Given the description of an element on the screen output the (x, y) to click on. 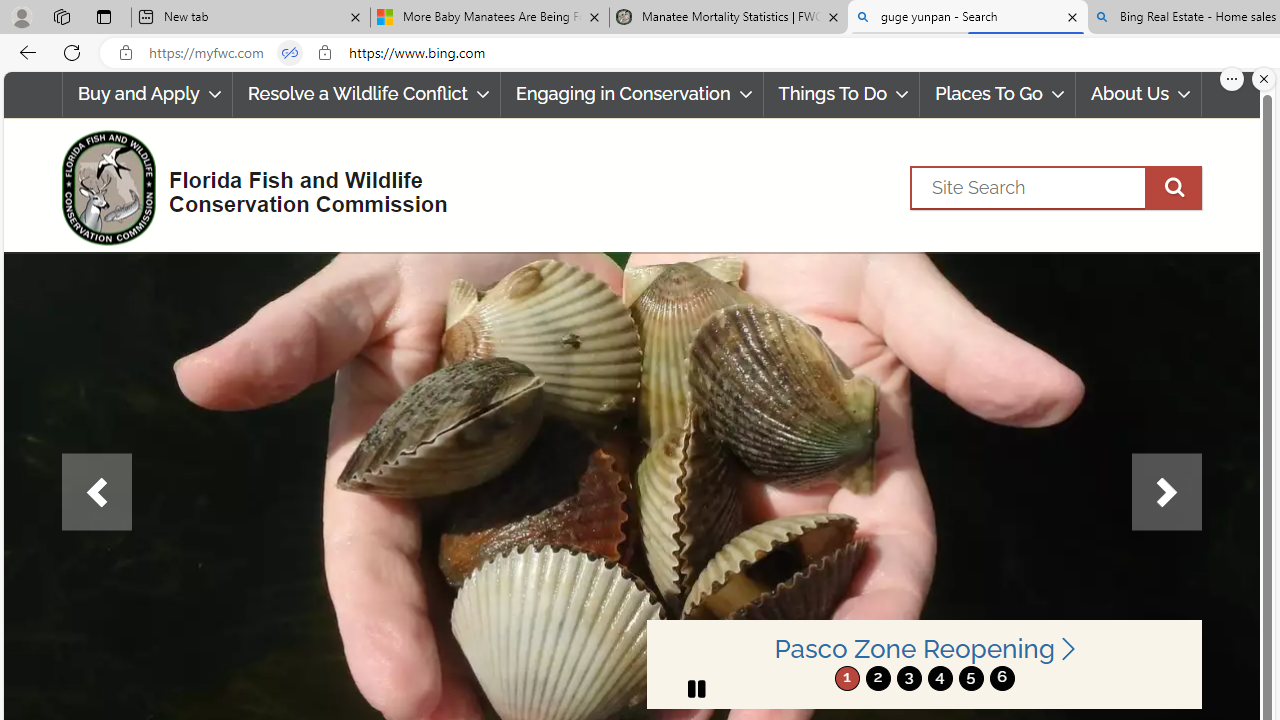
Previous (96, 491)
execute site search (1173, 187)
Tabs in split screen (289, 53)
move to slide 3 (908, 678)
Buy and Apply (146, 94)
Resolve a Wildlife Conflict (365, 94)
FWC Logo (108, 187)
Buy and Apply (146, 94)
Workspaces (61, 16)
Places To Go (997, 94)
FWC Logo Florida Fish and Wildlife Conservation Commission (246, 185)
Search (1055, 187)
New tab (250, 17)
6 (1002, 678)
